Given the description of an element on the screen output the (x, y) to click on. 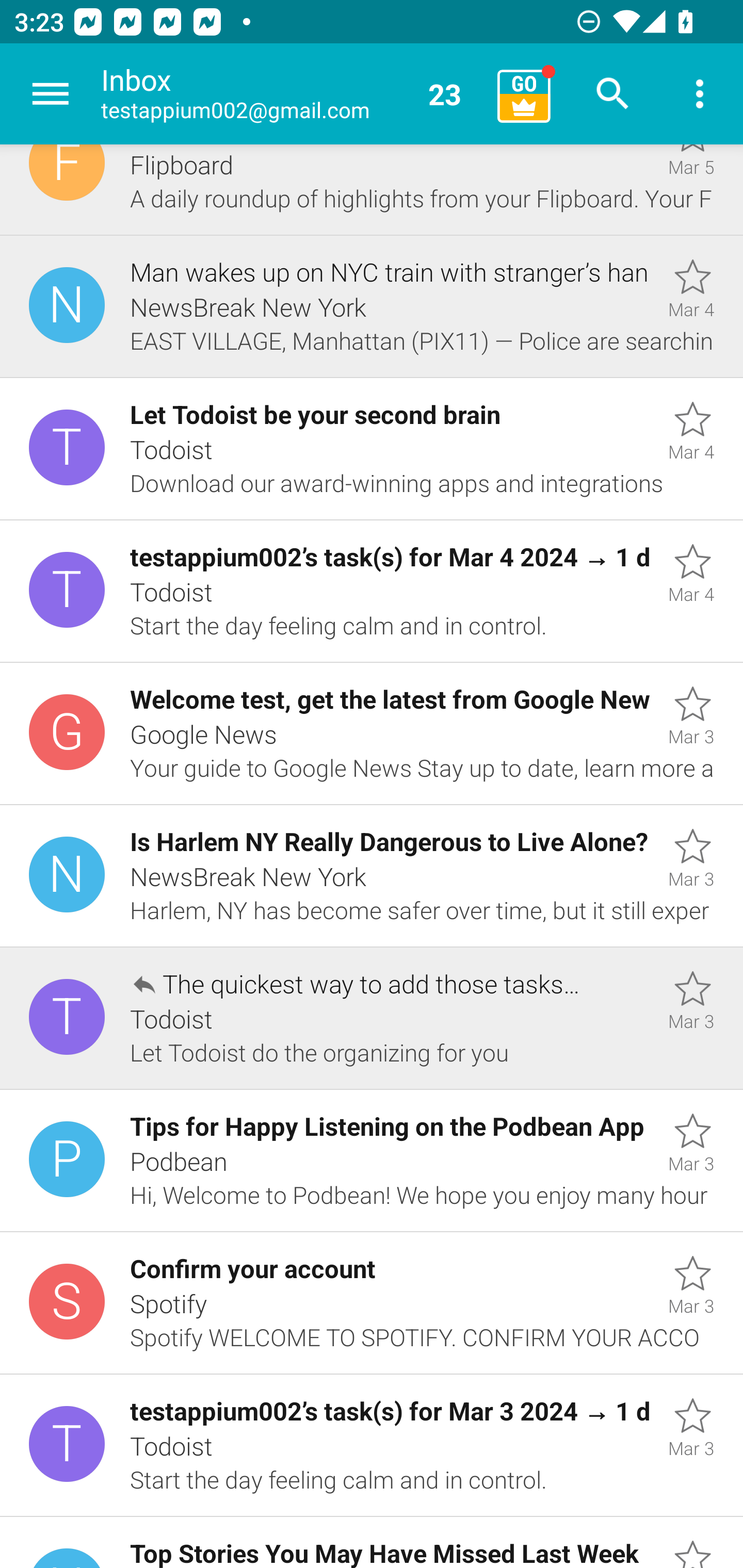
Navigate up (50, 93)
Inbox testappium002@gmail.com 23 (291, 93)
Search (612, 93)
More options (699, 93)
